Given the description of an element on the screen output the (x, y) to click on. 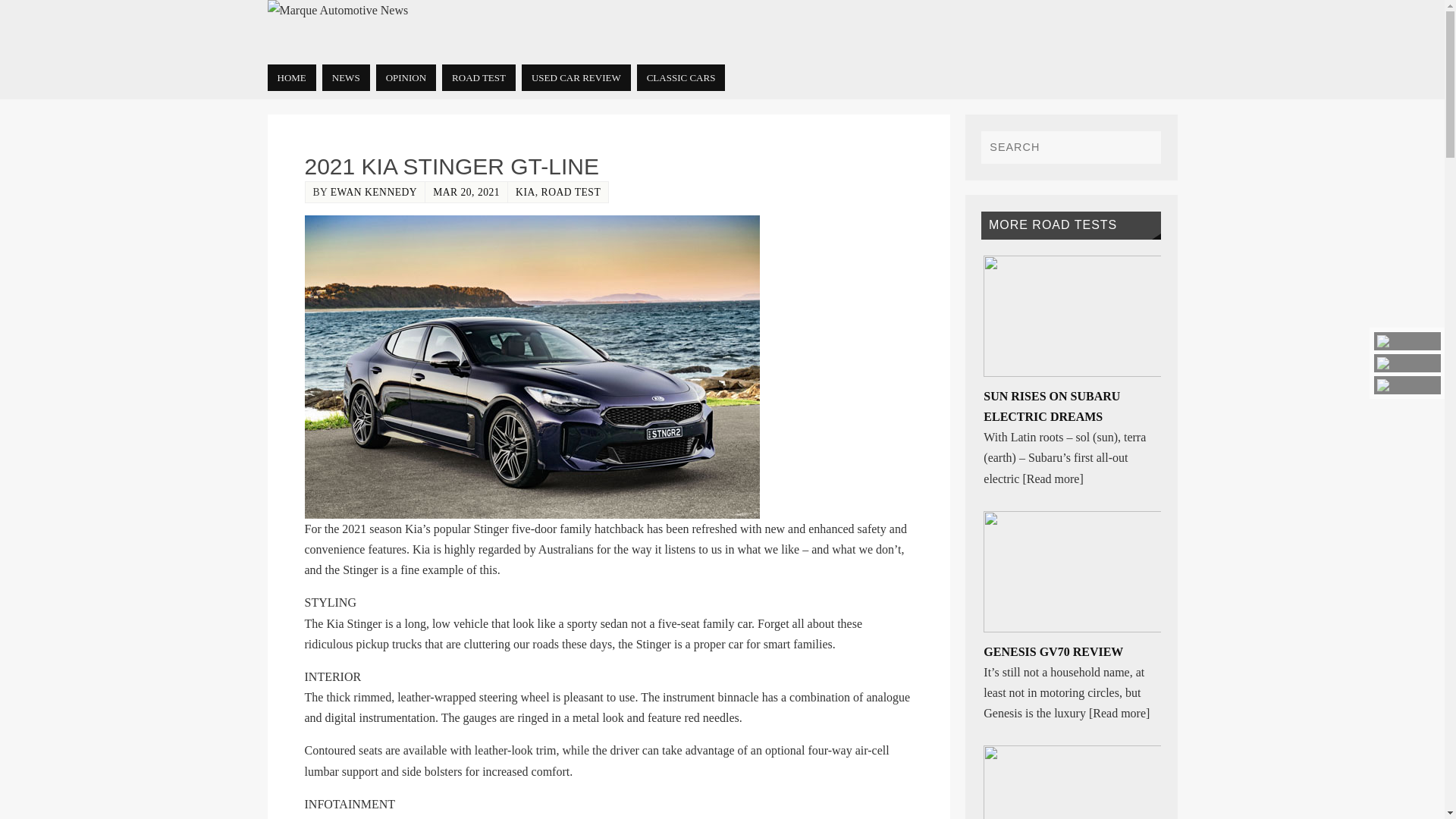
SUN RISES ON SUBARU ELECTRIC DREAMS (1051, 406)
NEWS (345, 77)
Facebook (1407, 341)
Marque Automotive News (336, 10)
KIA (525, 192)
ROAD TEST (571, 192)
Twitter (1407, 362)
ROAD TEST (478, 77)
MAR 20, 2021 (465, 192)
EWAN KENNEDY (373, 192)
